Given the description of an element on the screen output the (x, y) to click on. 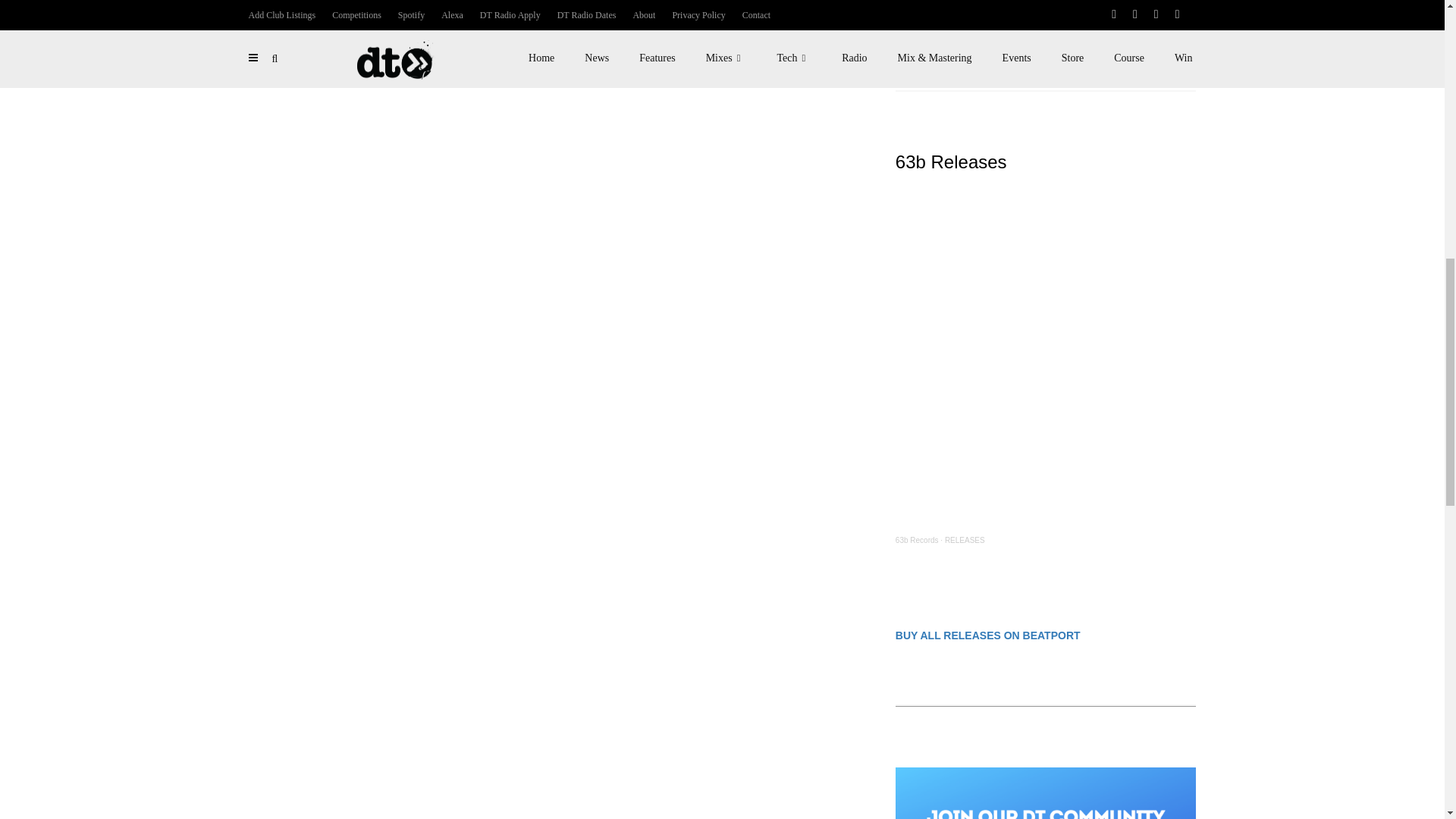
Data Transmission (926, 25)
RELEASES (964, 540)
63b Records (917, 540)
Official Releases (992, 25)
